Given the description of an element on the screen output the (x, y) to click on. 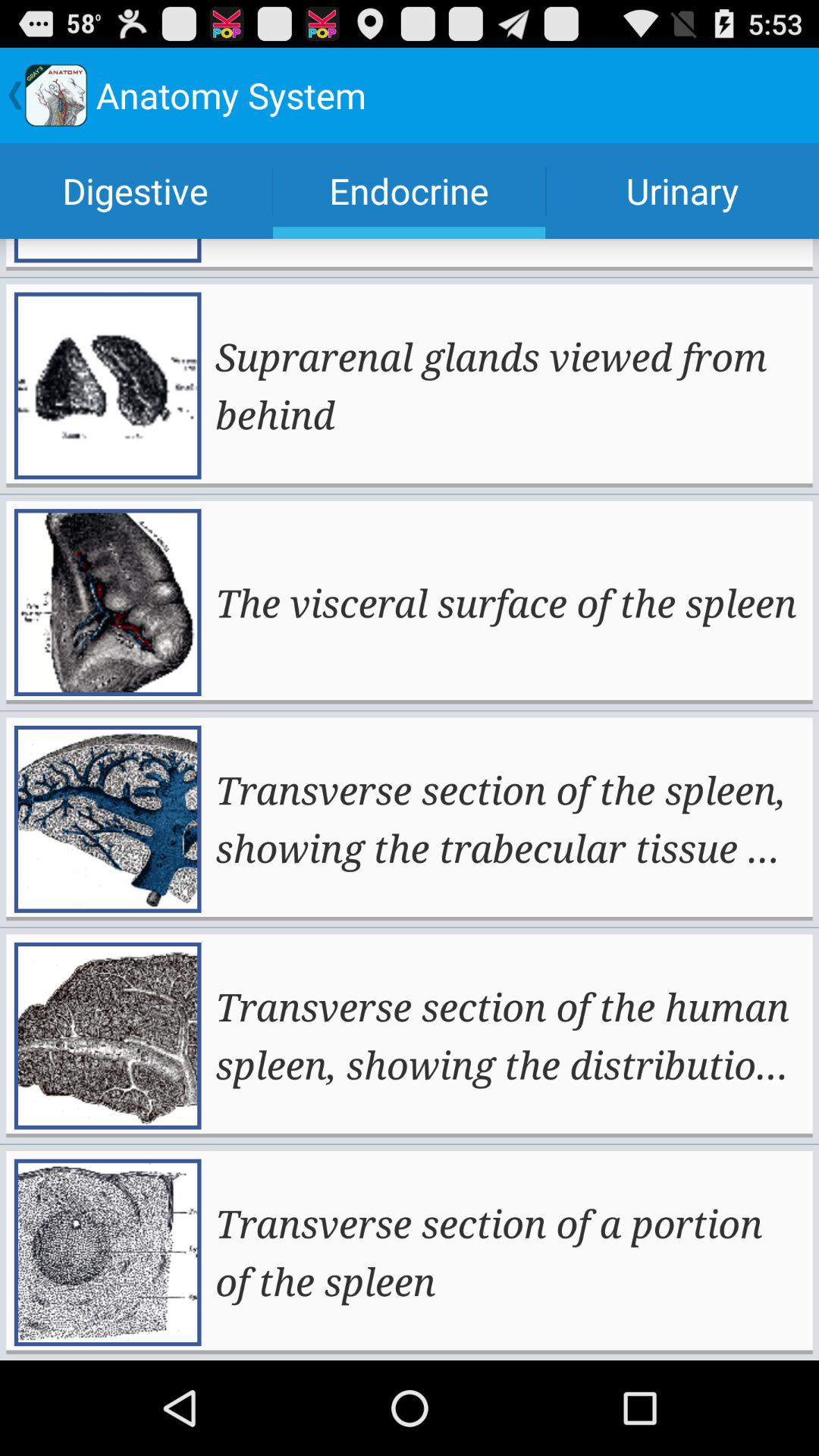
flip until suprarenal glands viewed icon (507, 385)
